Given the description of an element on the screen output the (x, y) to click on. 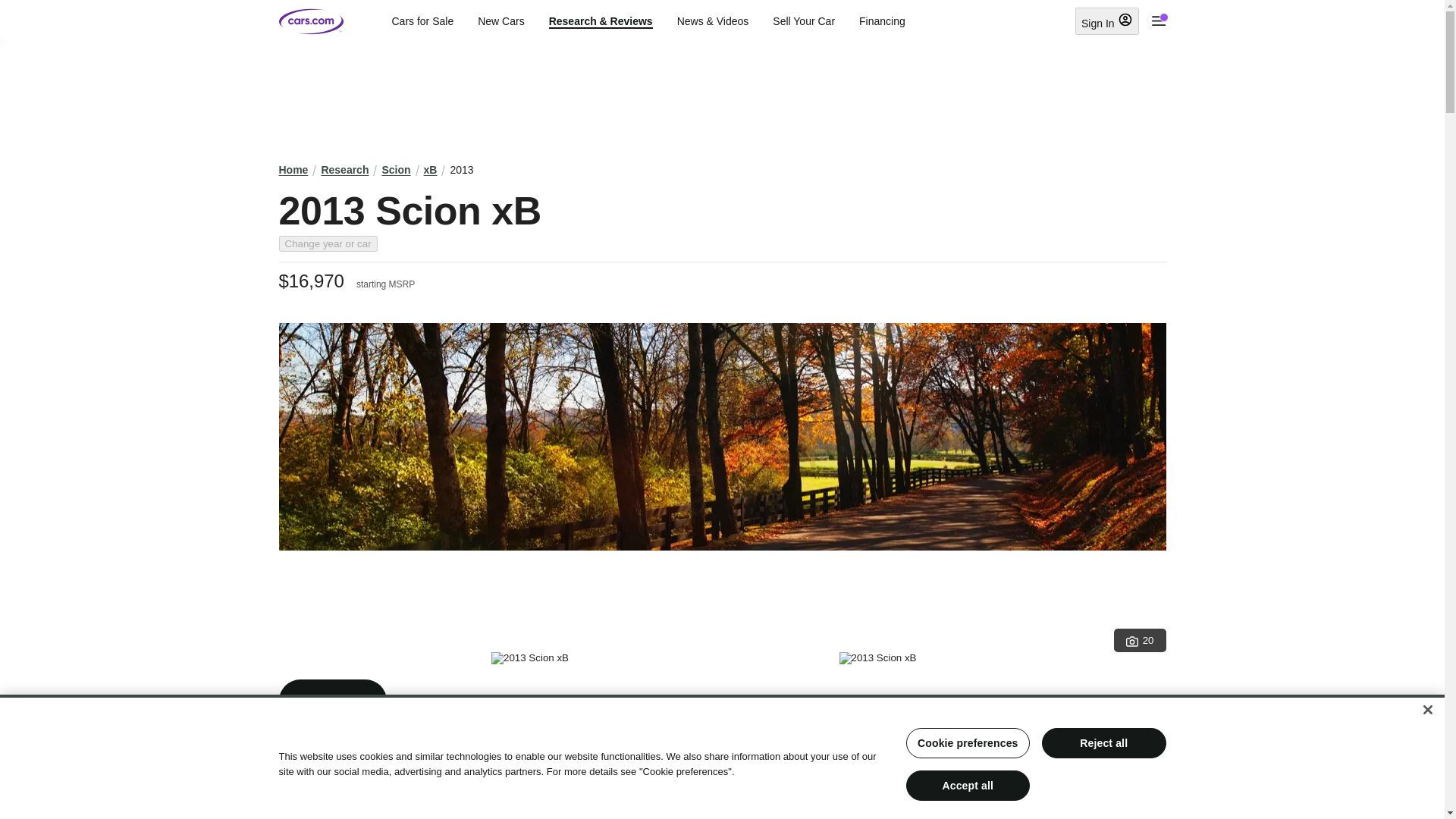
Research (344, 170)
Shop Now (333, 700)
Sell Your Car (803, 21)
Skip to main content (12, 11)
Home (293, 170)
Cars for Sale (421, 21)
Financing (882, 21)
New Cars (500, 21)
Scion (395, 170)
